Given the description of an element on the screen output the (x, y) to click on. 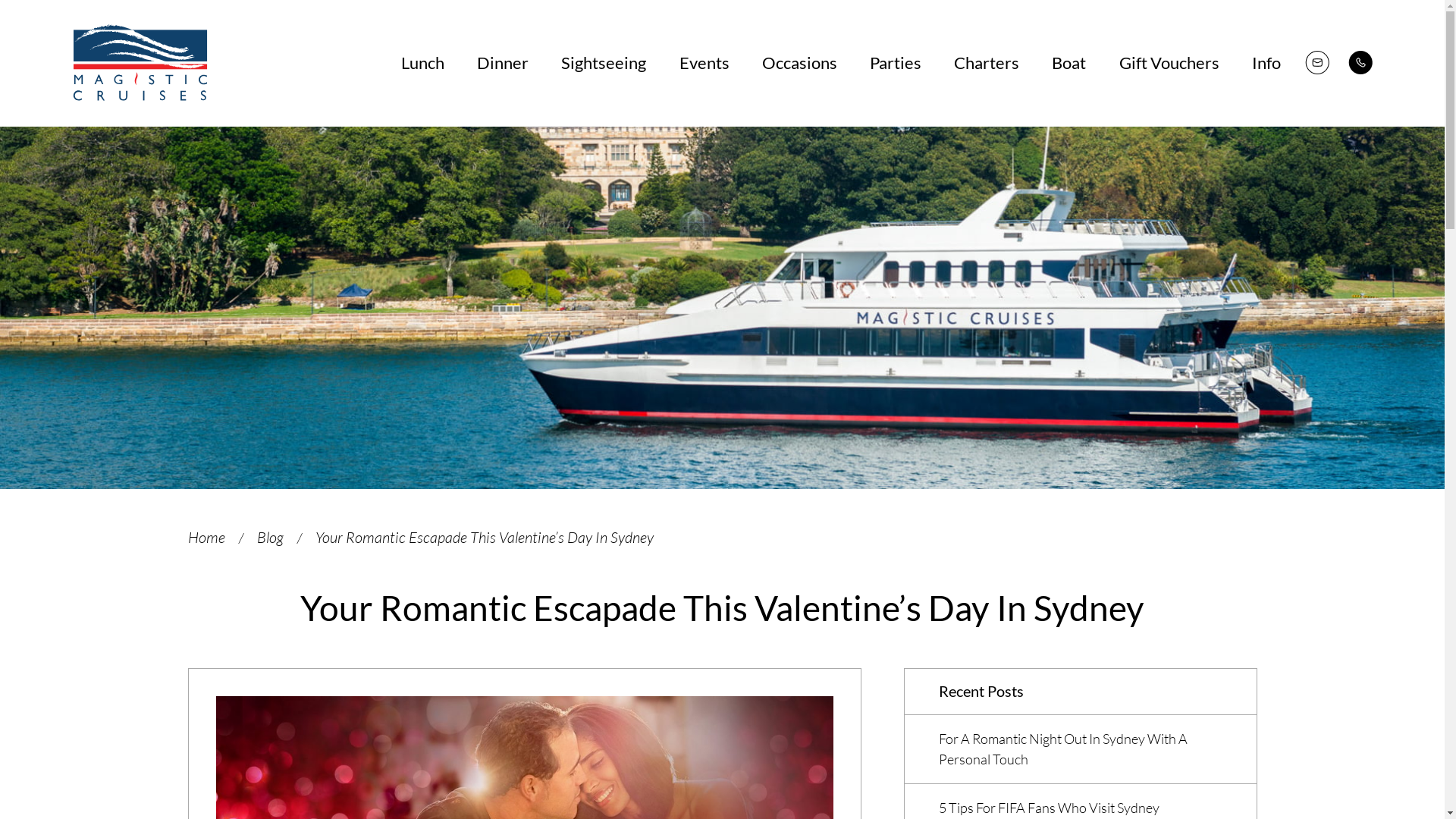
For A Romantic Night Out In Sydney With A Personal Touch Element type: text (1062, 748)
Gift Vouchers Element type: text (1169, 62)
5 Tips For FIFA Fans Who Visit Sydney Element type: text (1048, 807)
Parties Element type: text (895, 62)
Sightseeing Element type: text (603, 62)
Occasions Element type: text (799, 62)
Charters Element type: text (986, 62)
Boat Element type: text (1068, 62)
Blog Element type: text (269, 537)
Info Element type: text (1266, 62)
Lunch Element type: text (422, 62)
Events Element type: text (704, 62)
Home Element type: text (206, 537)
Dinner Element type: text (502, 62)
